Given the description of an element on the screen output the (x, y) to click on. 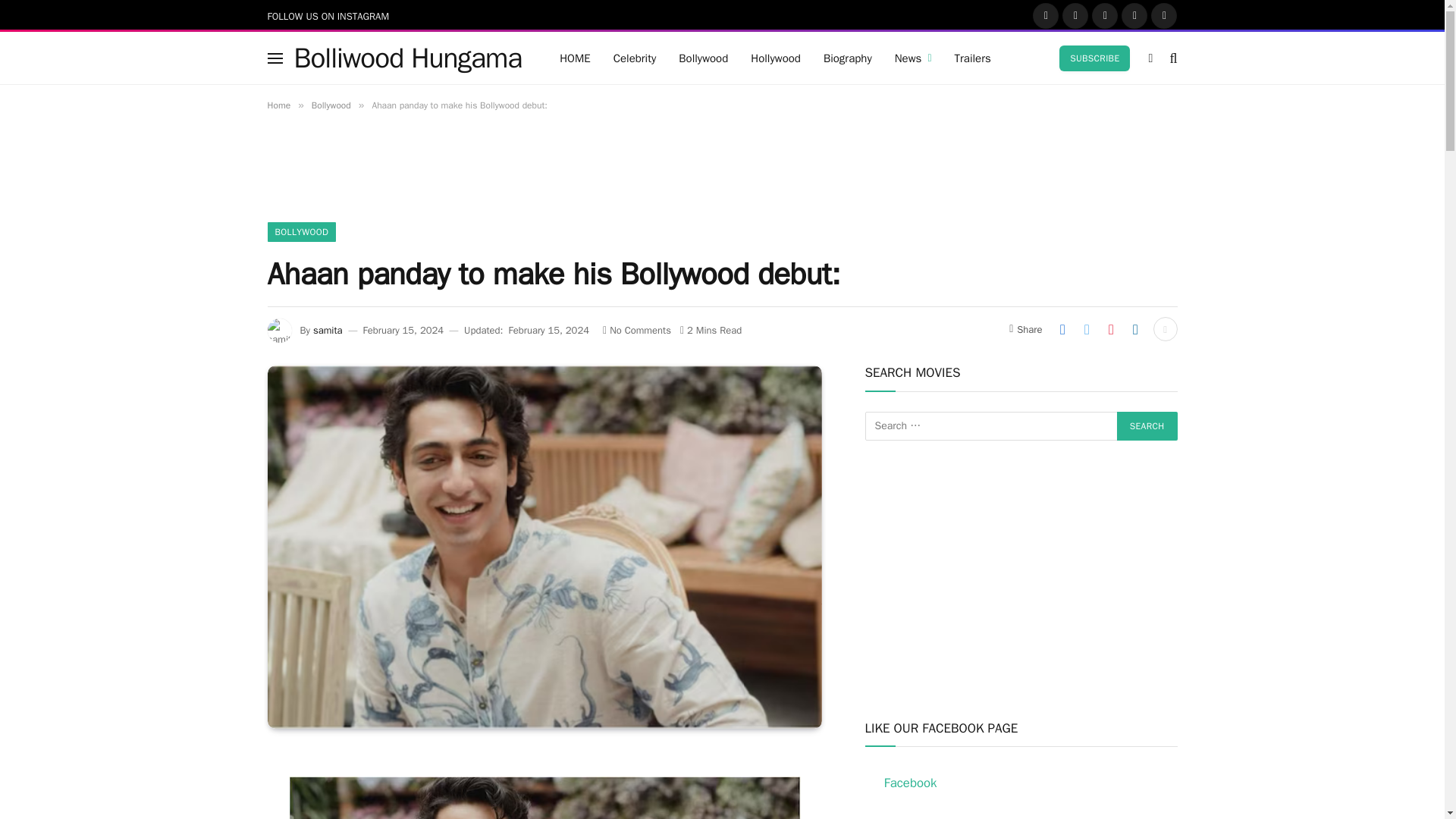
Bolliwood Hungama  (408, 57)
Search (1171, 57)
Vimeo (1163, 15)
Pinterest (1134, 15)
HOME (574, 57)
Search (1146, 425)
Twitter (1074, 15)
FOLLOW US ON INSTAGRAM (327, 15)
Instagram (1105, 15)
Switch to Dark Design - easier on eyes. (1149, 57)
Advertisement (721, 177)
Facebook (1045, 15)
Bolliwood Hungama (408, 57)
Search (1146, 425)
